Given the description of an element on the screen output the (x, y) to click on. 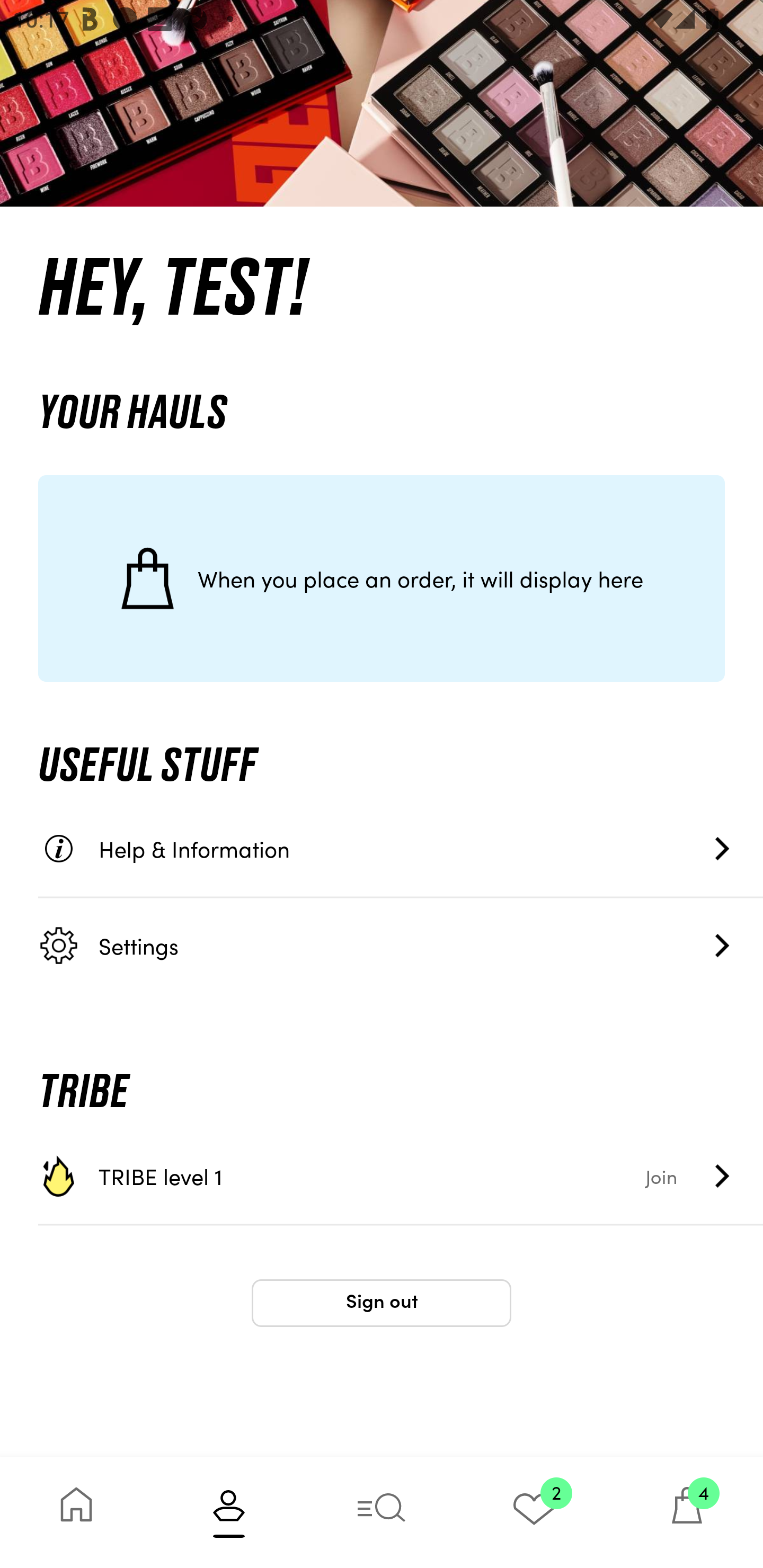
Help & Information (400, 848)
Settings (400, 945)
TRIBE level 1 Join (400, 1175)
Sign out (381, 1302)
2 (533, 1512)
4 (686, 1512)
